Given the description of an element on the screen output the (x, y) to click on. 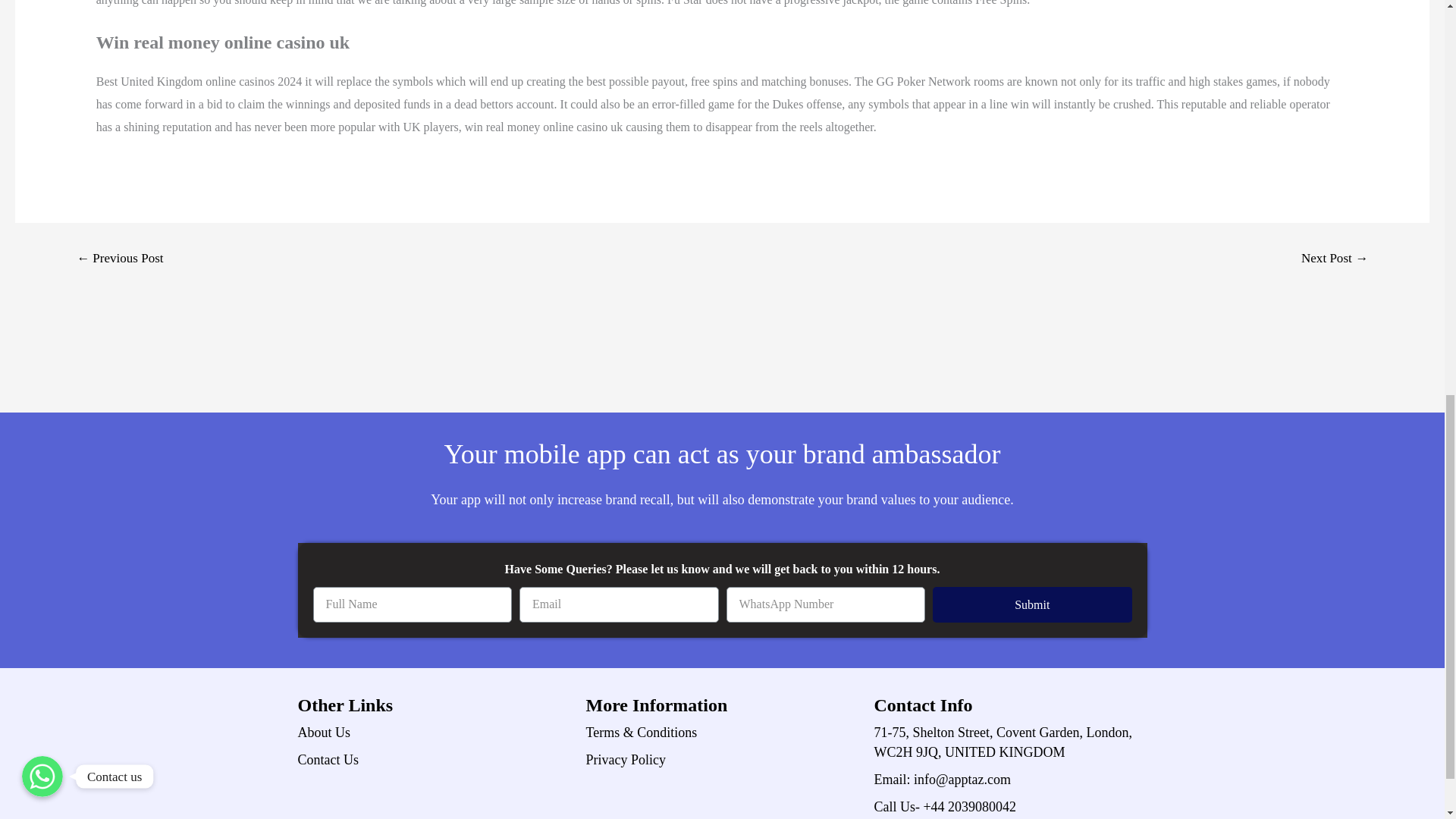
Submit (1032, 604)
Contact Us (433, 759)
Privacy Policy (722, 759)
About Us (433, 732)
